Given the description of an element on the screen output the (x, y) to click on. 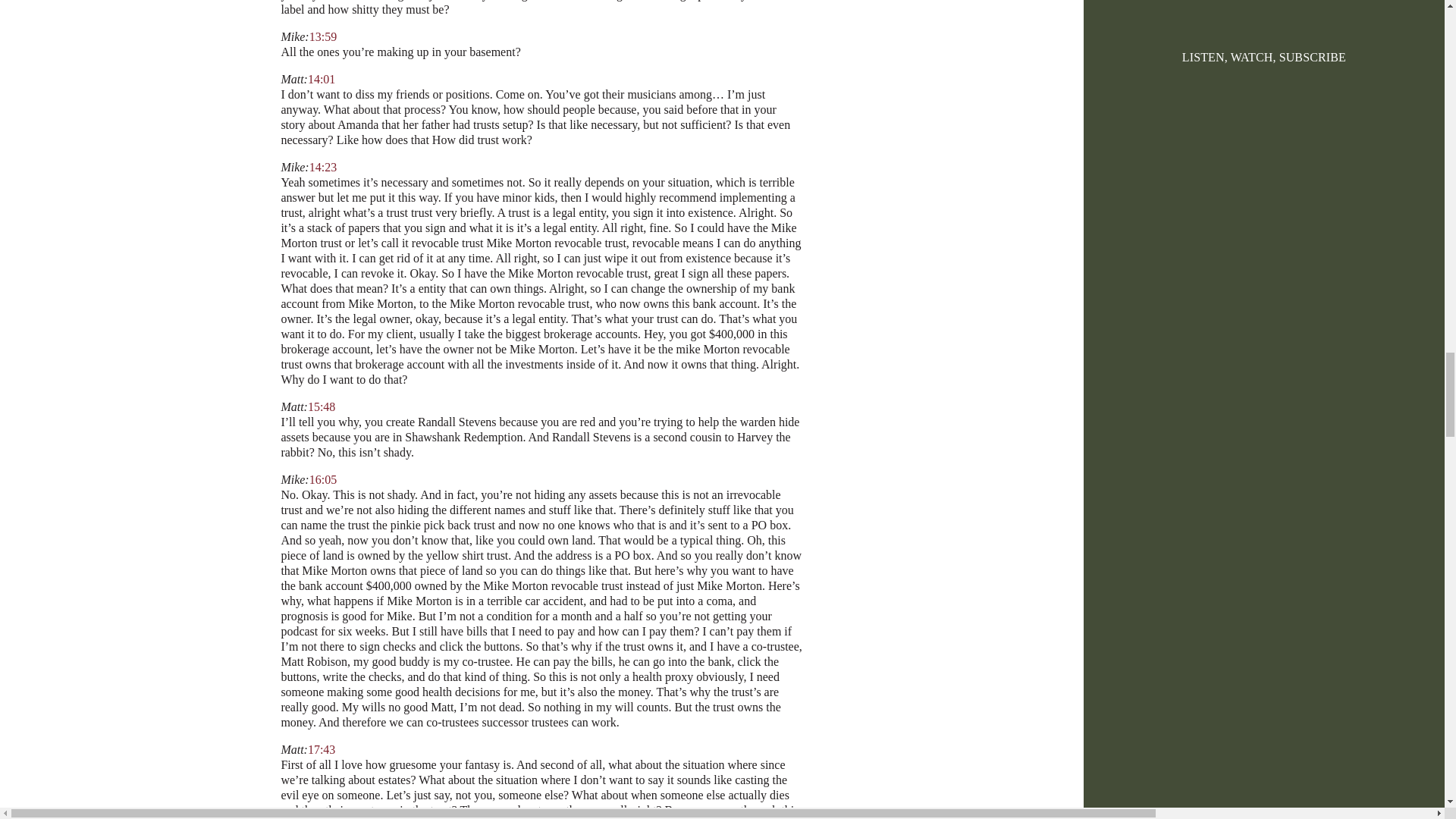
14:23 (322, 166)
13:59 (322, 36)
16:05 (322, 479)
17:43 (320, 748)
14:01 (320, 78)
15:48 (320, 406)
